Given the description of an element on the screen output the (x, y) to click on. 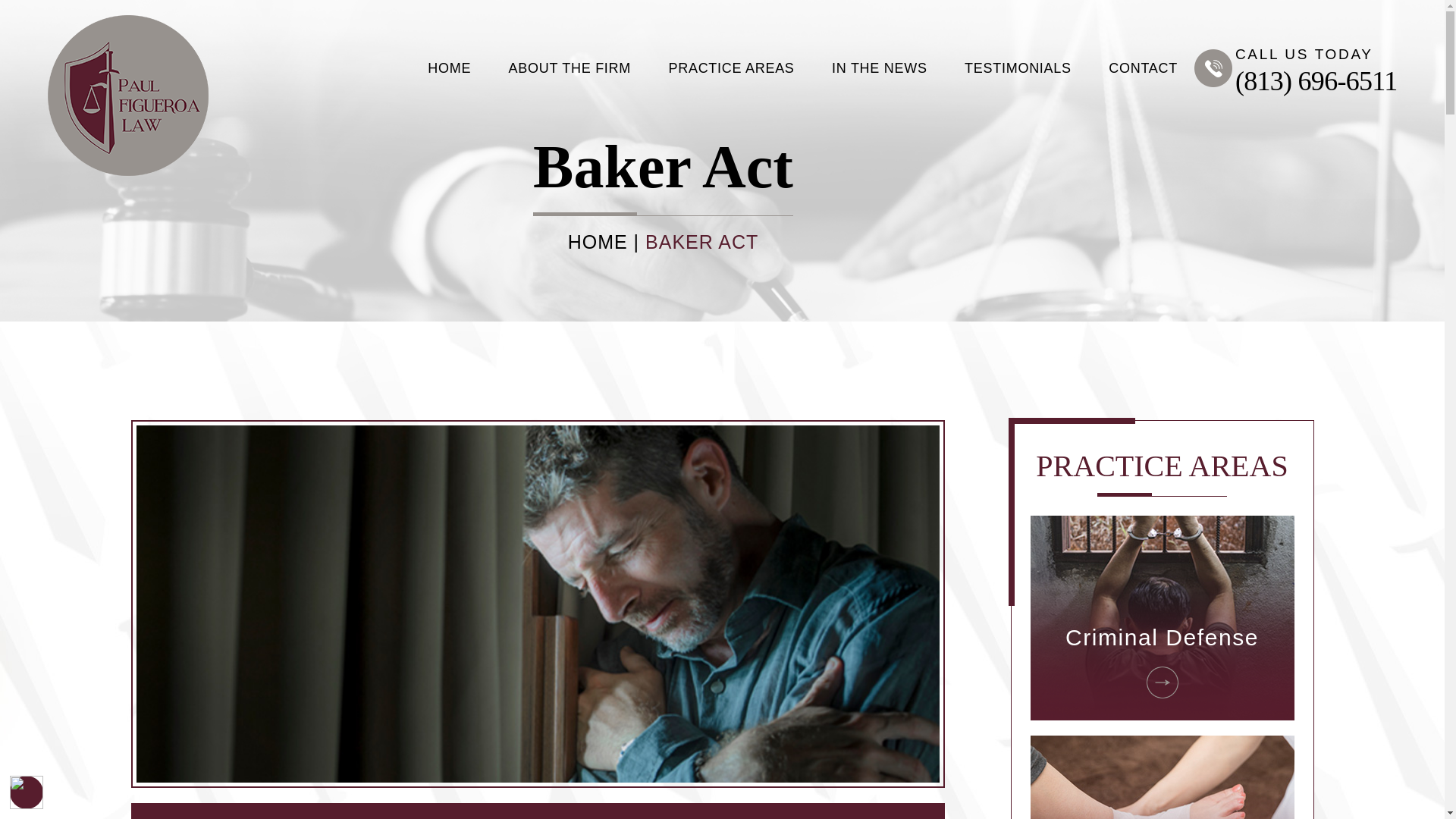
ABOUT THE FIRM (569, 68)
Go to Paul Figueroa Law. (597, 241)
TESTIMONIALS (1017, 68)
CONTACT (1142, 68)
HOME (449, 68)
IN THE NEWS (879, 68)
PRACTICE AREAS (730, 68)
Accessibility Menu (26, 792)
